Given the description of an element on the screen output the (x, y) to click on. 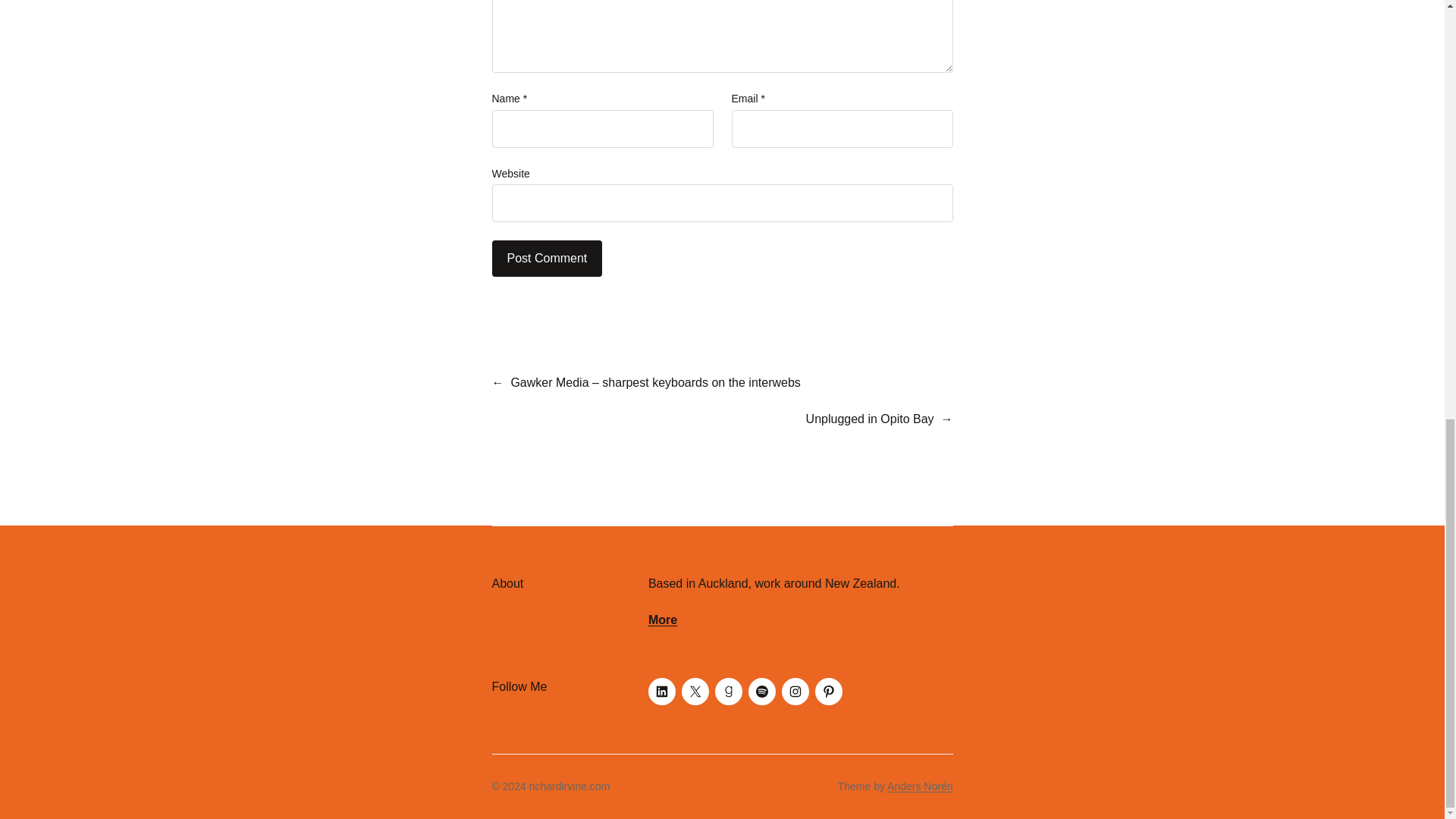
More (662, 619)
Spotify (762, 691)
Unplugged in Opito Bay (870, 418)
Instagram (795, 691)
X (695, 691)
Post Comment (547, 258)
richardirvine.com (569, 786)
LinkedIn (661, 691)
Goodreads (728, 691)
Pinterest (829, 691)
Post Comment (547, 258)
